Given the description of an element on the screen output the (x, y) to click on. 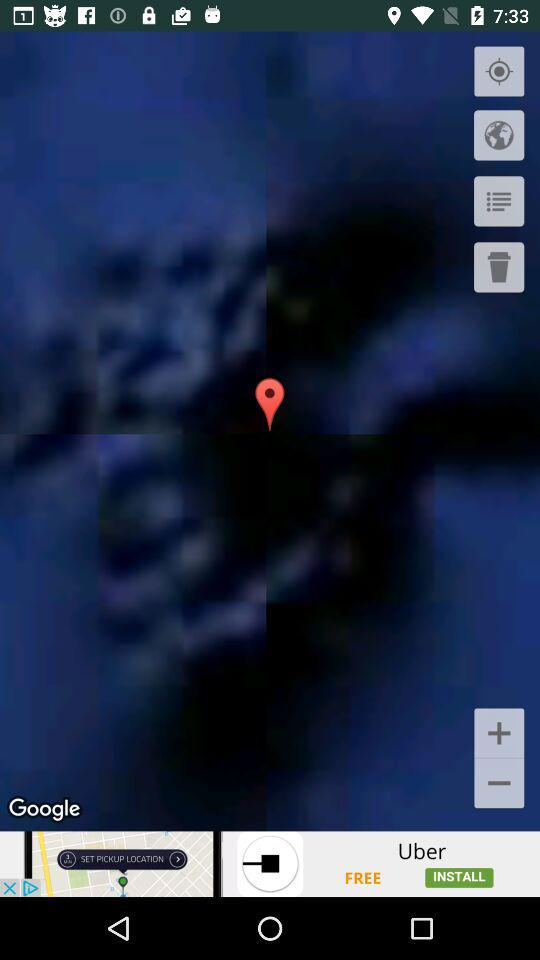
open advertisements (270, 864)
